Given the description of an element on the screen output the (x, y) to click on. 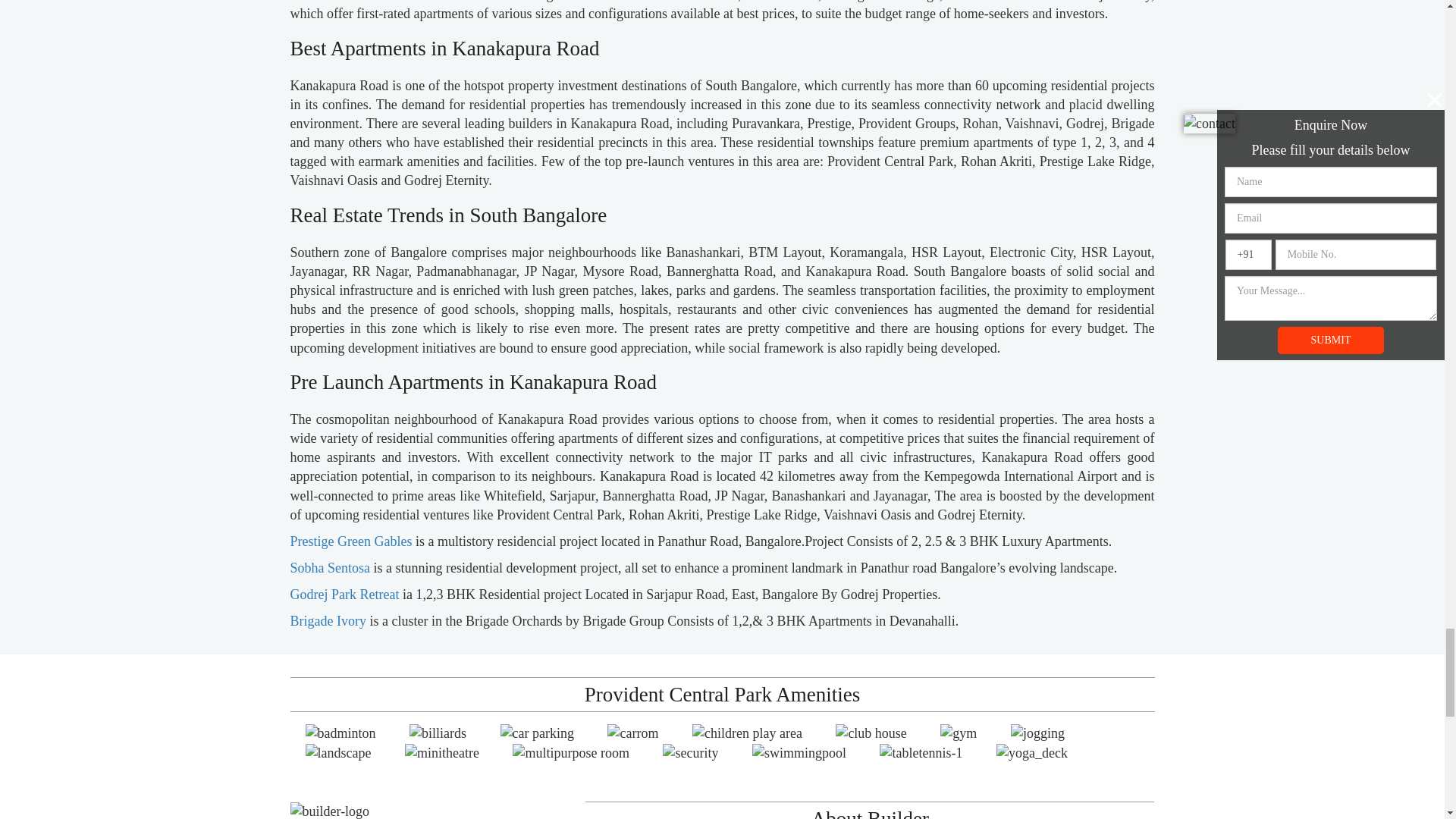
Godrej Park Retreat (343, 594)
Brigade Ivory (327, 620)
Godrej Park Retreat (343, 594)
Prestige Green Gables (350, 540)
Sobha Sentosa (329, 567)
Prestige Green Gables (350, 540)
Sobha Sentosa (329, 567)
Brigade Ivory (327, 620)
